Given the description of an element on the screen output the (x, y) to click on. 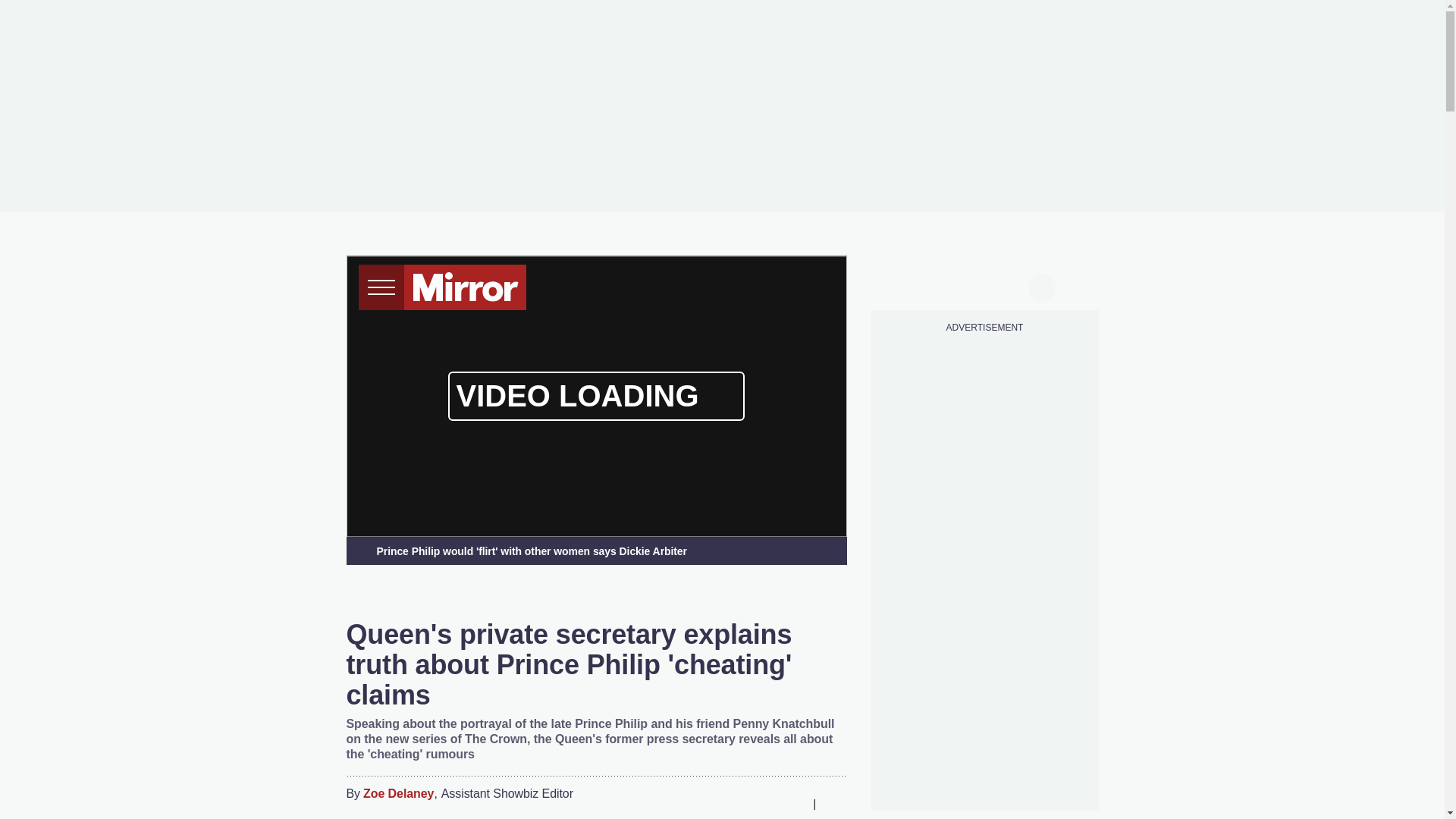
Whatsapp (763, 803)
Zoe Delaney (397, 794)
snapchat (1012, 285)
facebook (897, 285)
twitter (926, 285)
Twitter (733, 803)
instagram (984, 285)
Comments (834, 803)
tiktok (955, 285)
Facebook (702, 803)
